Given the description of an element on the screen output the (x, y) to click on. 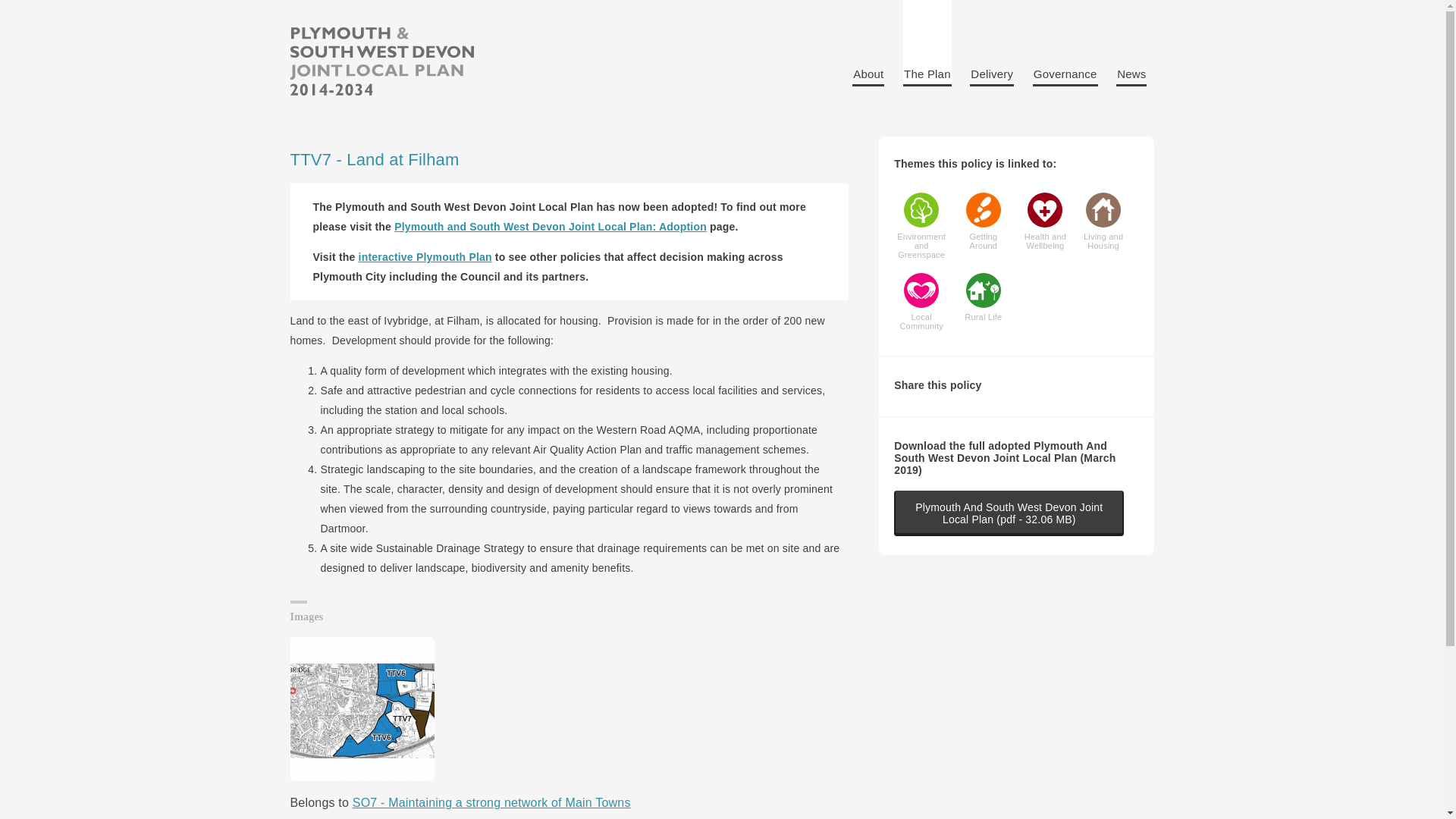
Rural Life (983, 296)
Getting Around (983, 221)
Local Community (921, 301)
Plymouth and South West Devon Joint Local Plan: Adoption (550, 226)
interactive Plymouth Plan (425, 256)
Living and Housing (1103, 221)
Images (568, 690)
SO7 - Maintaining a strong network of Main Towns (491, 802)
Health and Wellbeing (1044, 221)
The Plymouth Plan (381, 62)
